Given the description of an element on the screen output the (x, y) to click on. 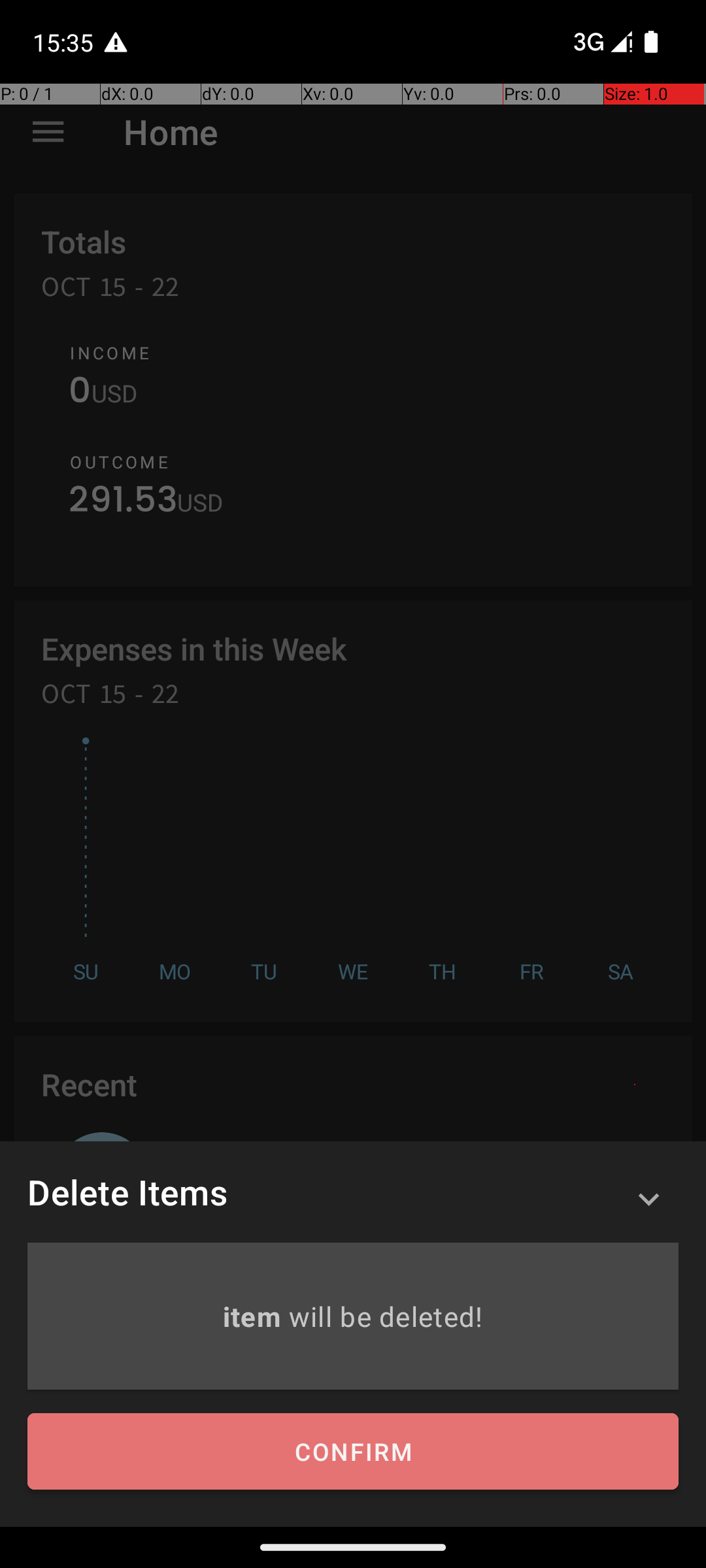
Delete Items Element type: android.widget.TextView (127, 1191)
item  Element type: android.widget.TextView (255, 1315)
will be deleted! Element type: android.widget.TextView (385, 1315)
CONFIRM Element type: android.widget.Button (352, 1451)
15:35 Element type: android.widget.TextView (64, 41)
